Given the description of an element on the screen output the (x, y) to click on. 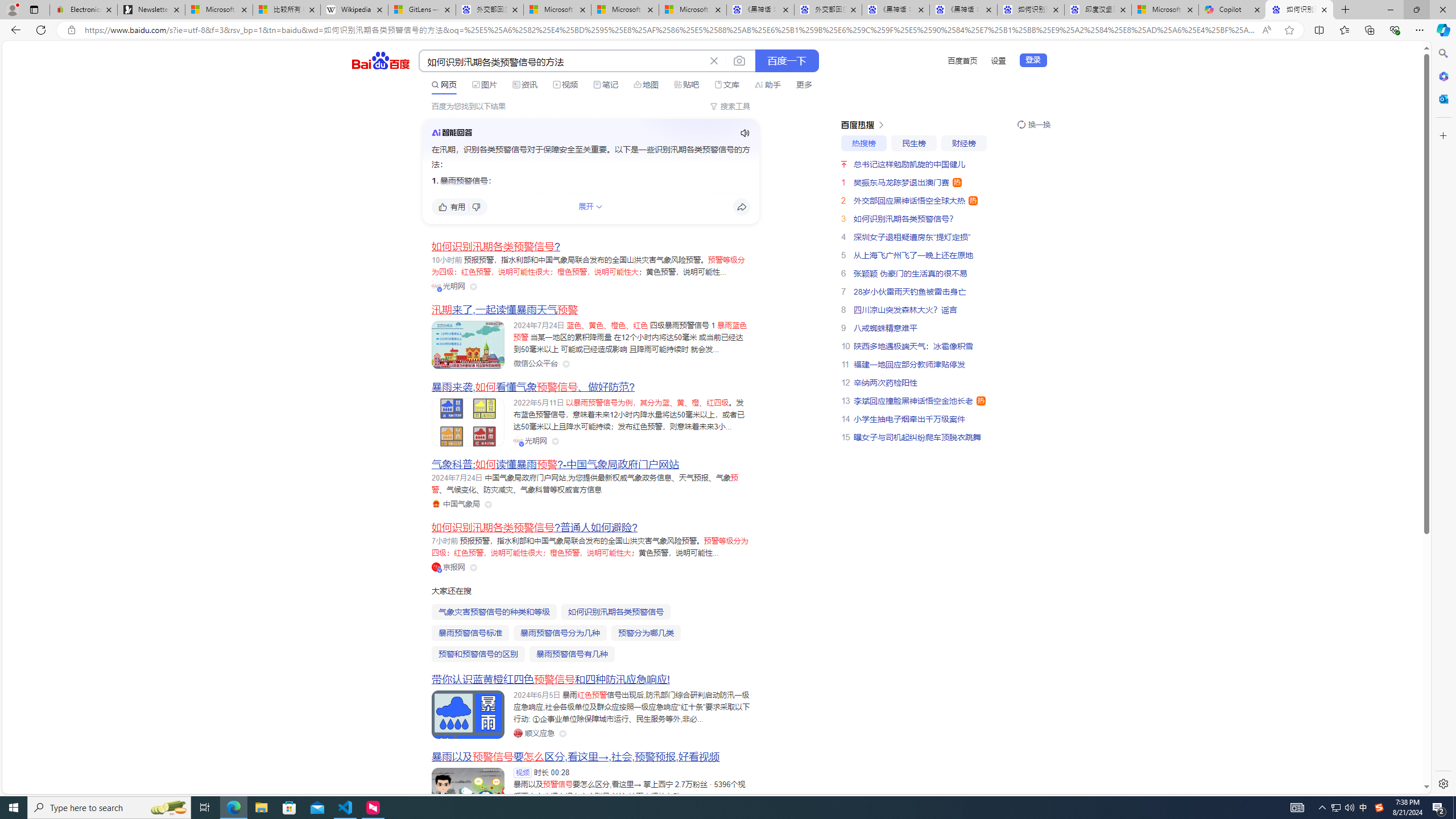
Class: siteLink_9TPP3 (533, 732)
